Given the description of an element on the screen output the (x, y) to click on. 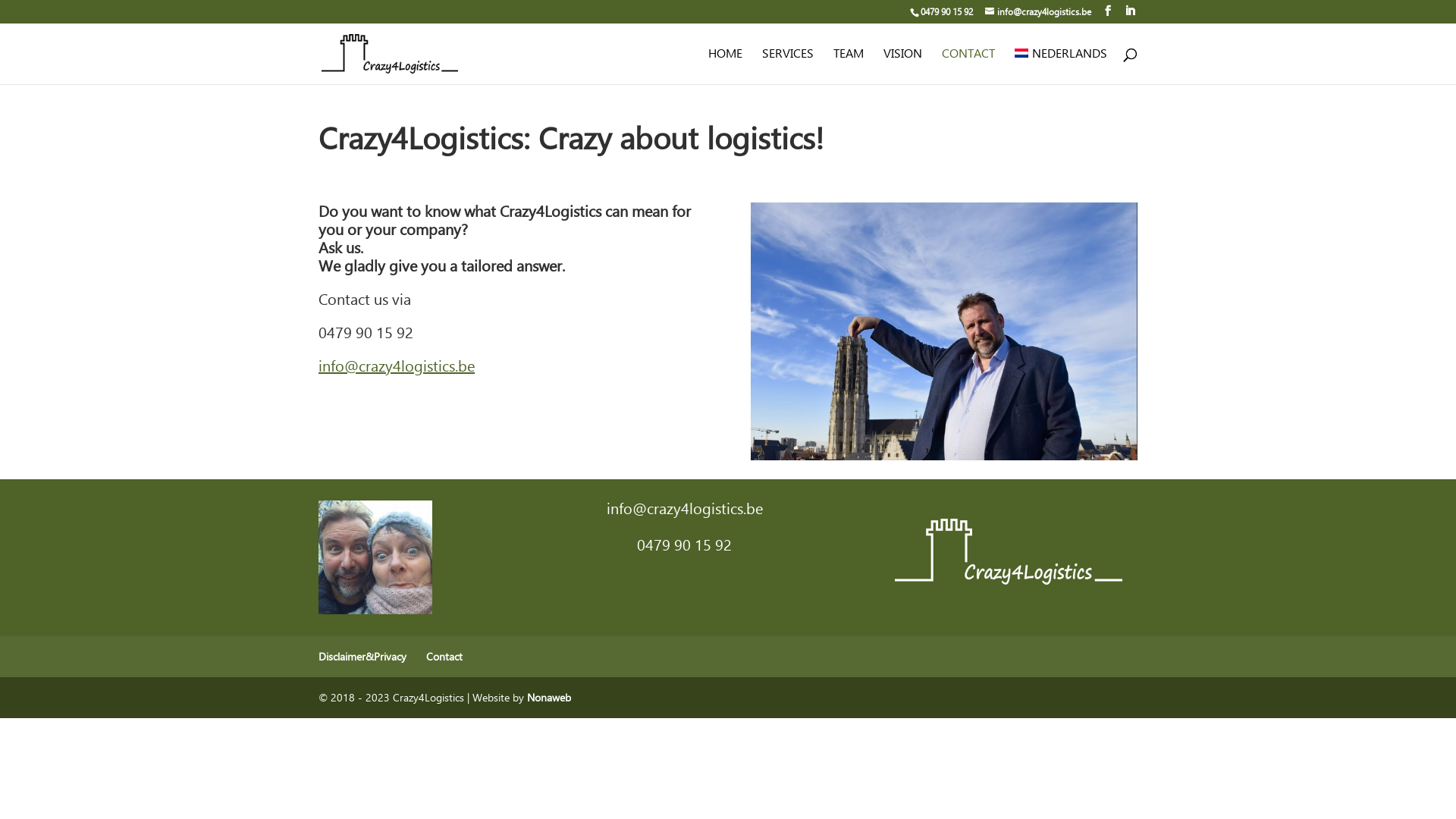
HOME Element type: text (725, 66)
TEAM Element type: text (848, 66)
info@crazy4logistics.be Element type: text (396, 366)
NEDERLANDS Element type: text (1060, 66)
Disclaimer&Privacy Element type: text (362, 655)
Contact Element type: text (444, 655)
info@crazy4logistics.be Element type: text (1038, 11)
VISION Element type: text (902, 66)
SERVICES Element type: text (787, 66)
Nonaweb Element type: text (549, 696)
CONTACT Element type: text (967, 66)
